Given the description of an element on the screen output the (x, y) to click on. 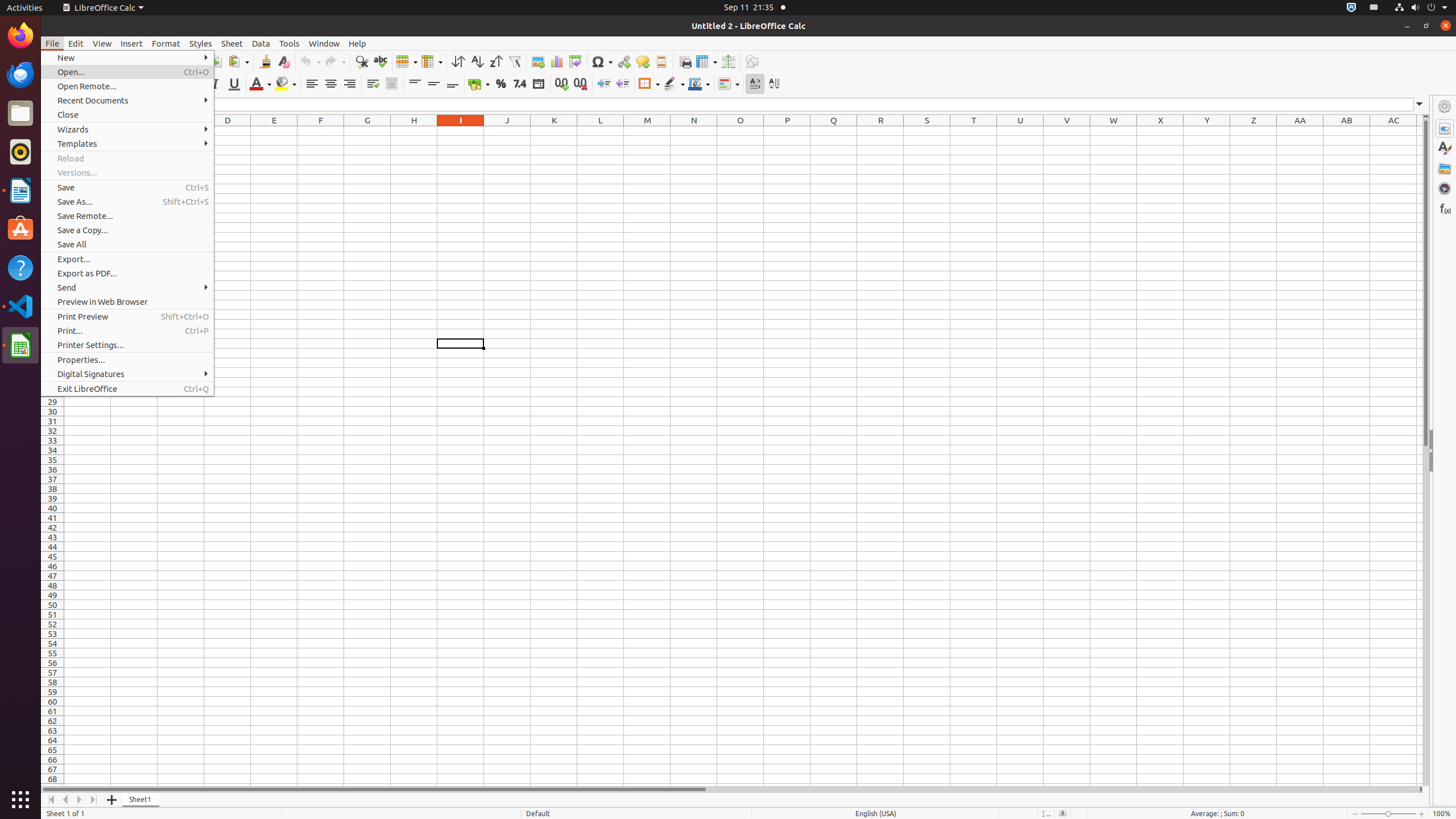
Window Element type: menu (324, 43)
G1 Element type: table-cell (367, 130)
Percent Element type: push-button (500, 83)
Merge and Center Cells Element type: push-button (391, 83)
Undo Element type: push-button (309, 61)
